Given the description of an element on the screen output the (x, y) to click on. 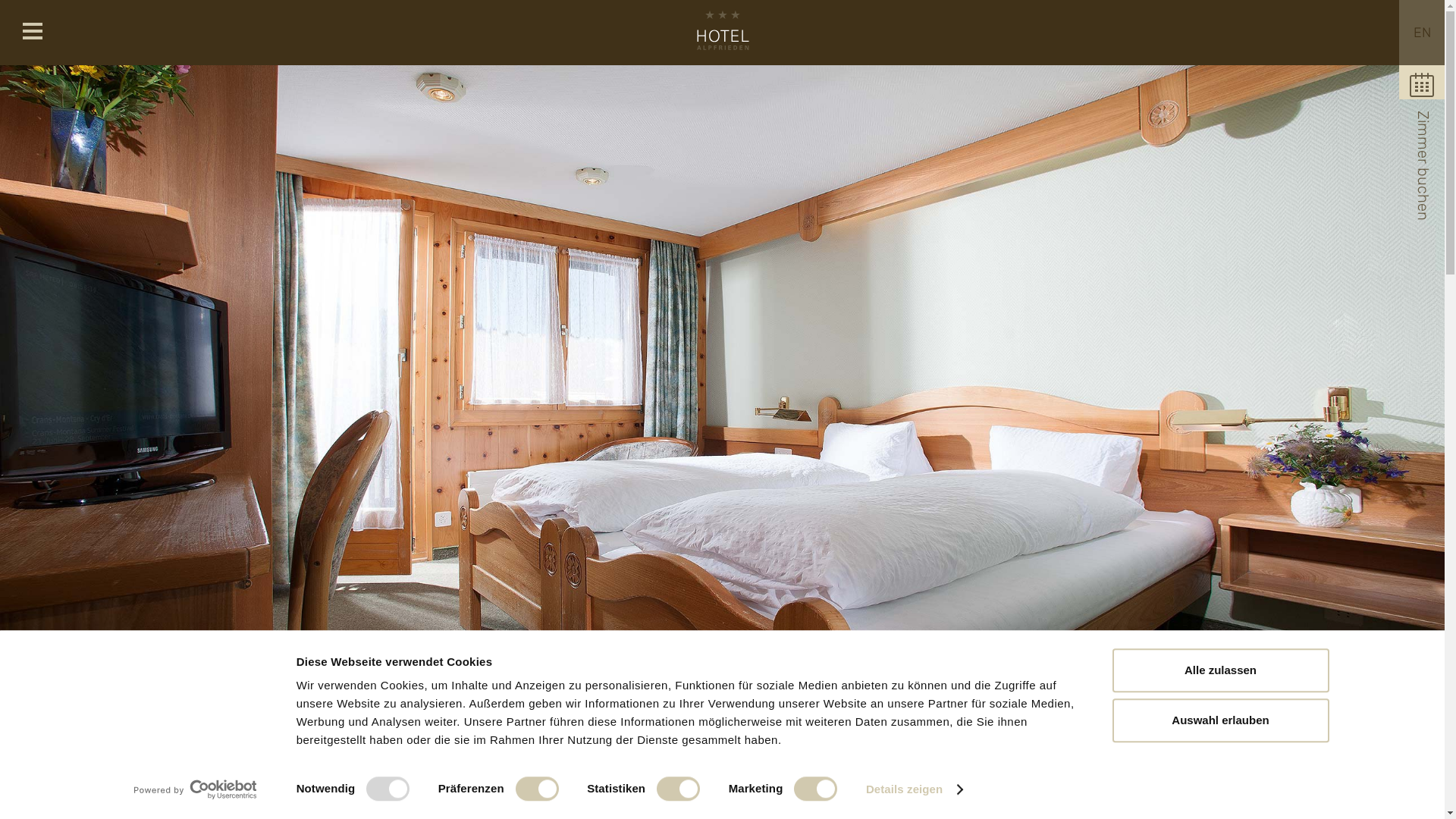
EN Element type: text (1421, 32)
alpfrieden.ch Element type: hover (721, 31)
Alle zulassen Element type: text (1219, 670)
Details zeigen Element type: text (914, 789)
Auswahl erlauben Element type: text (1219, 720)
